Given the description of an element on the screen output the (x, y) to click on. 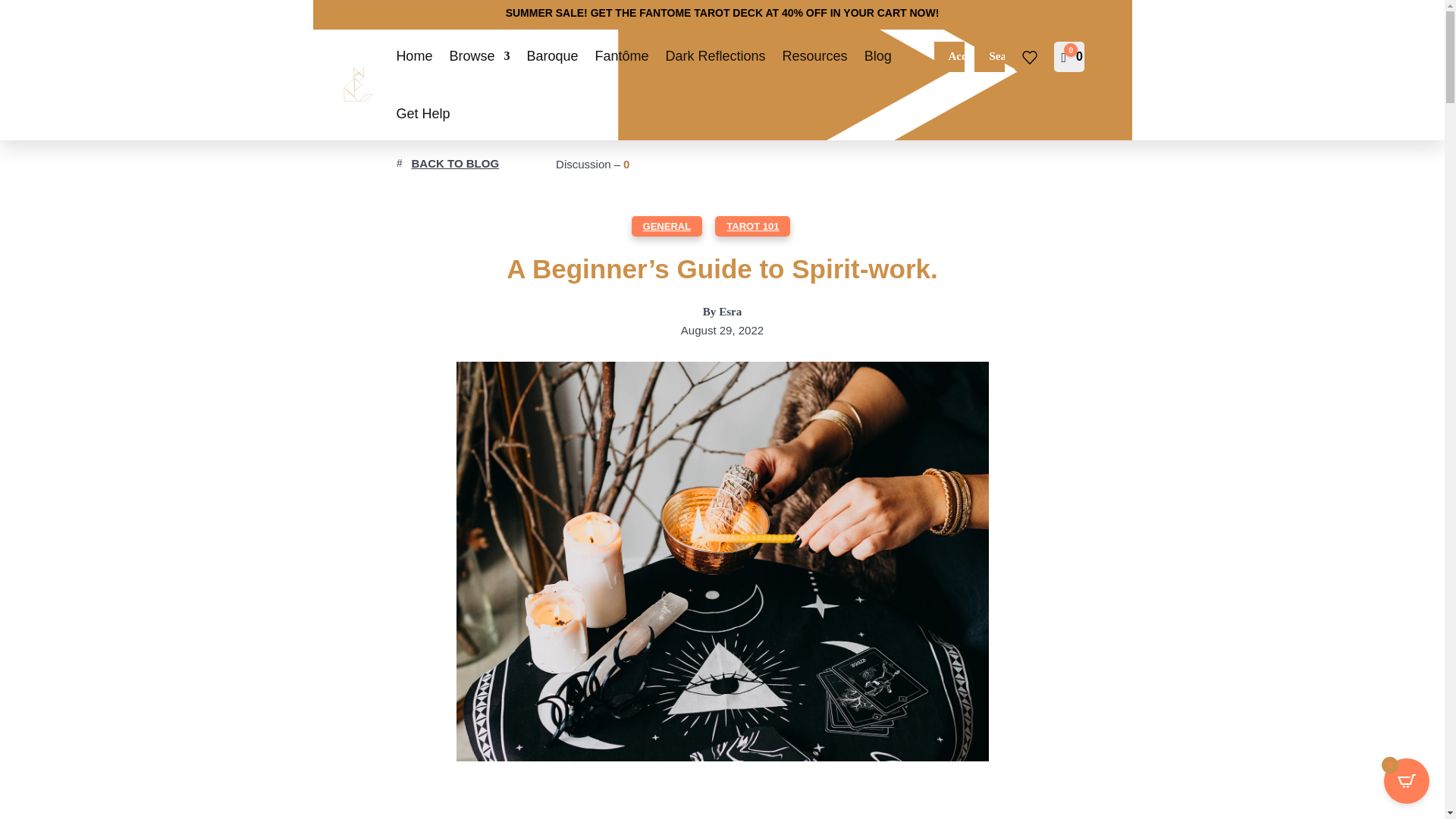
Dark Reflections (715, 56)
BACK TO BLOG (453, 163)
TAROT 101 (752, 226)
GENERAL (667, 226)
Esra (730, 313)
Browse (478, 56)
Baroque (551, 56)
Get Help (422, 113)
Resources (815, 56)
